Given the description of an element on the screen output the (x, y) to click on. 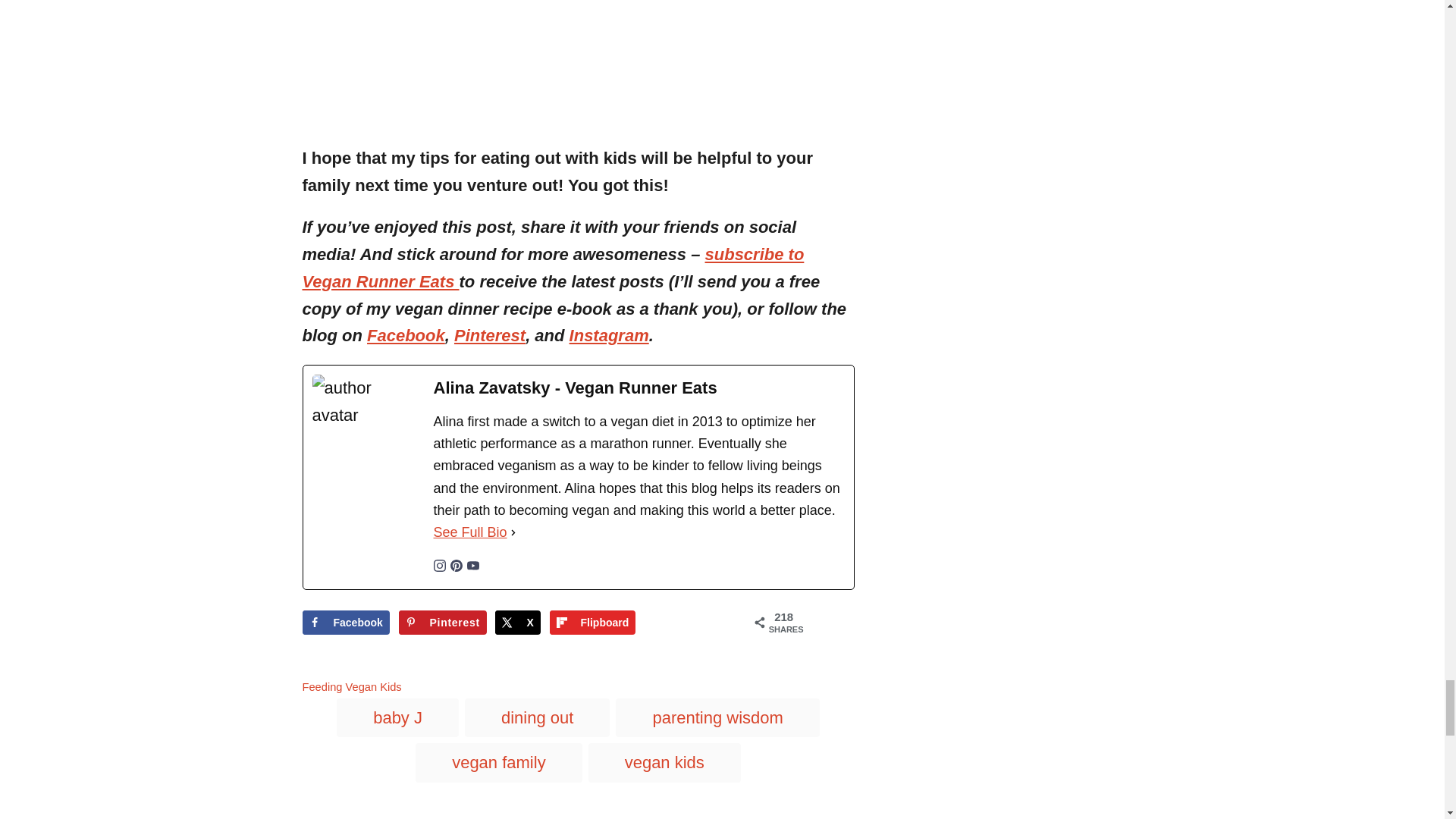
Share on Facebook (344, 622)
Share on Flipboard (593, 622)
Save to Pinterest (442, 622)
Share on X (517, 622)
